Given the description of an element on the screen output the (x, y) to click on. 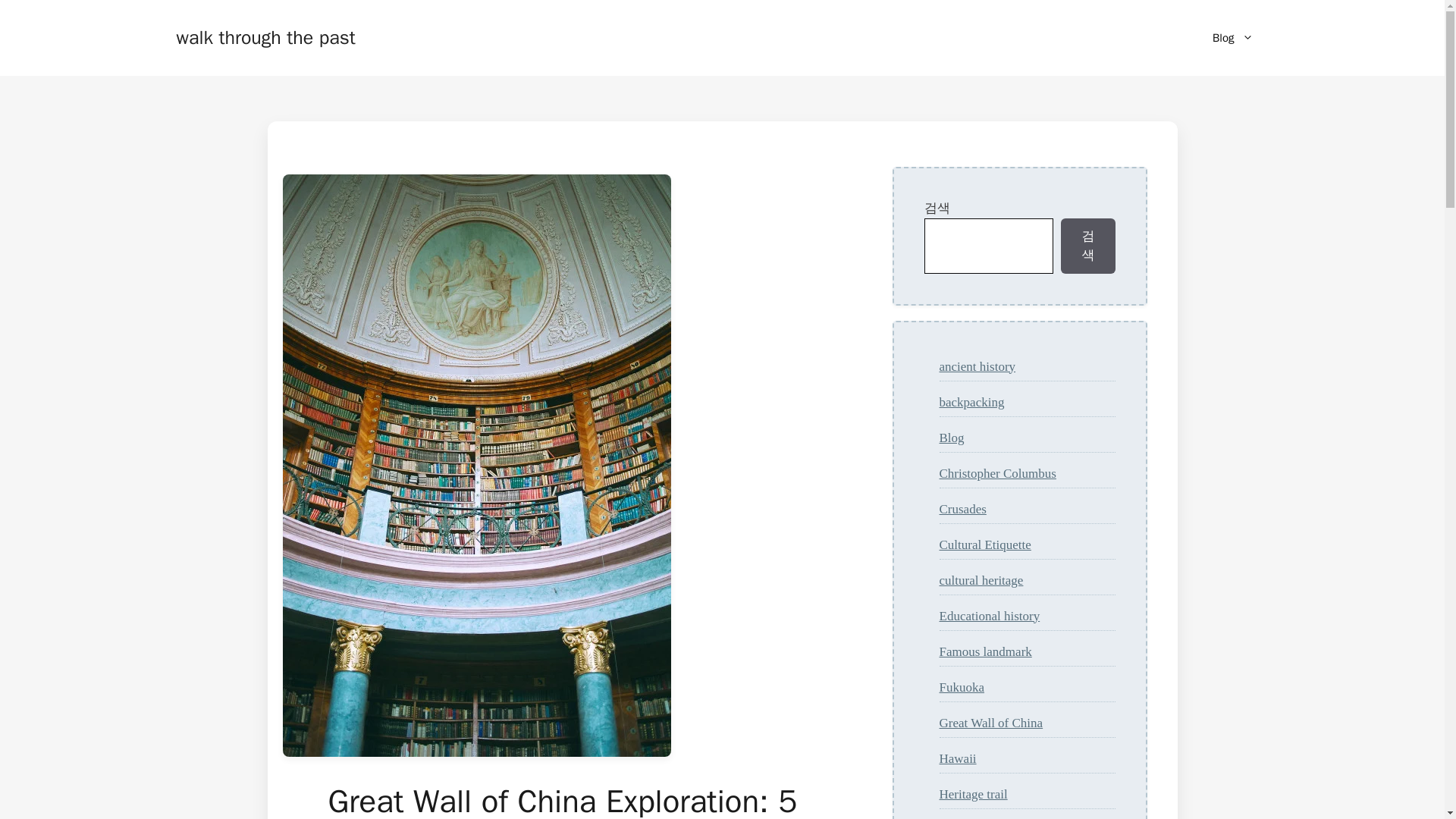
walk through the past (265, 37)
Christopher Columbus (997, 472)
Educational history (989, 615)
ancient history (976, 366)
backpacking (971, 400)
Cultural Etiquette (984, 544)
cultural heritage (981, 580)
Crusades (962, 509)
Blog (951, 437)
Blog (1232, 37)
